Given the description of an element on the screen output the (x, y) to click on. 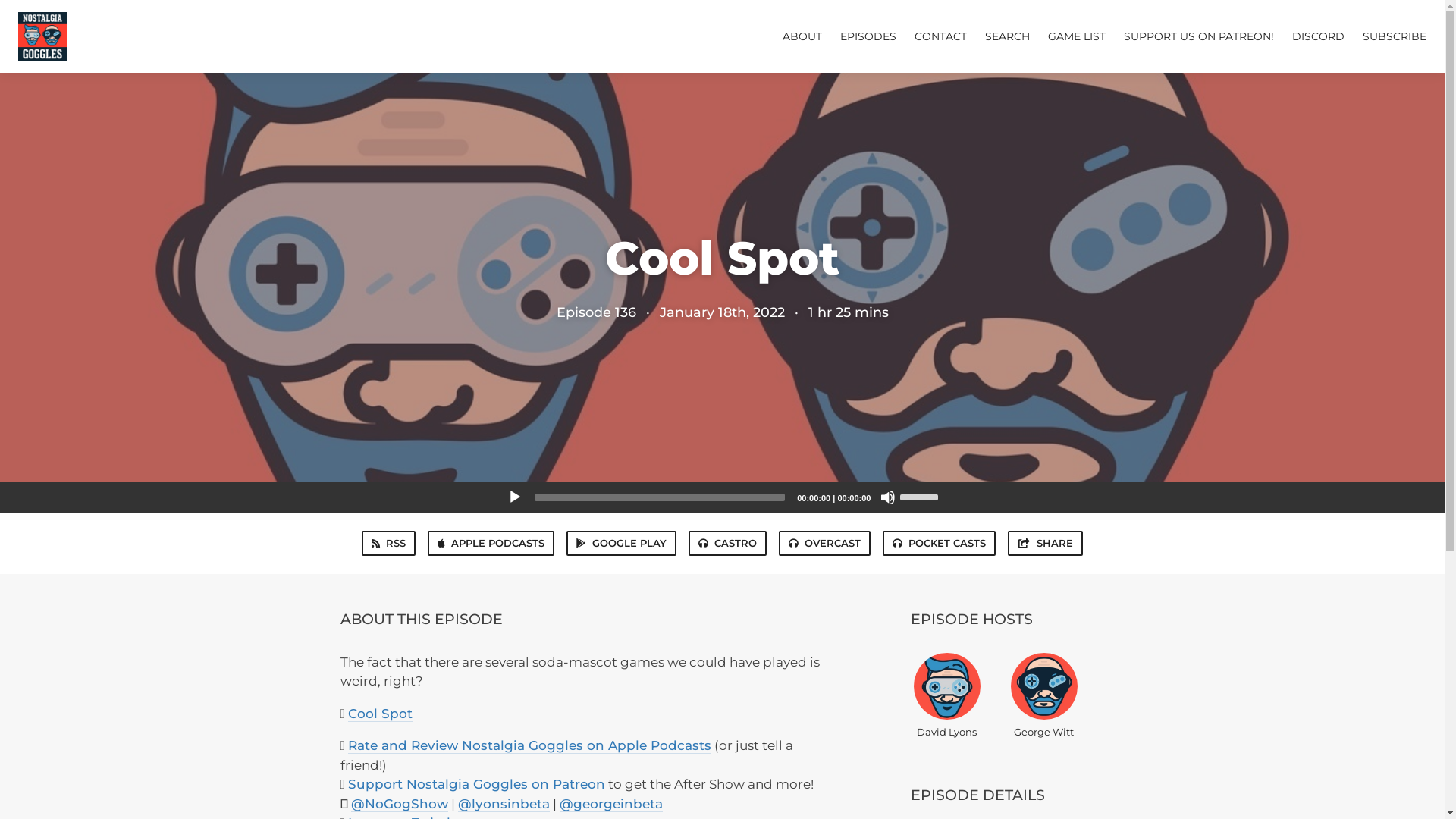
@lyonsinbeta Element type: text (503, 803)
POCKET CASTS Element type: text (938, 542)
Play Element type: hover (513, 497)
DISCORD Element type: text (1318, 36)
Support Nostalgia Goggles on Patreon Element type: text (476, 783)
CASTRO Element type: text (727, 542)
ABOUT Element type: text (802, 36)
SUBSCRIBE Element type: text (1394, 36)
Mute Element type: hover (886, 497)
OVERCAST Element type: text (824, 542)
SUPPORT US ON PATREON! Element type: text (1198, 36)
APPLE PODCASTS Element type: text (490, 542)
RSS Element type: text (388, 542)
George Witt Element type: text (1043, 694)
@georgeinbeta Element type: text (610, 803)
Rate and Review Nostalgia Goggles on Apple Podcasts Element type: text (529, 745)
EPISODES Element type: text (868, 36)
David Lyons Element type: text (946, 694)
GAME LIST Element type: text (1076, 36)
SHARE Element type: text (1044, 542)
CONTACT Element type: text (940, 36)
@NoGogShow Element type: text (398, 803)
GOOGLE PLAY Element type: text (621, 542)
Cool Spot Element type: text (380, 712)
Use Up/Down Arrow keys to increase or decrease volume. Element type: text (920, 495)
SEARCH Element type: text (1007, 36)
